Given the description of an element on the screen output the (x, y) to click on. 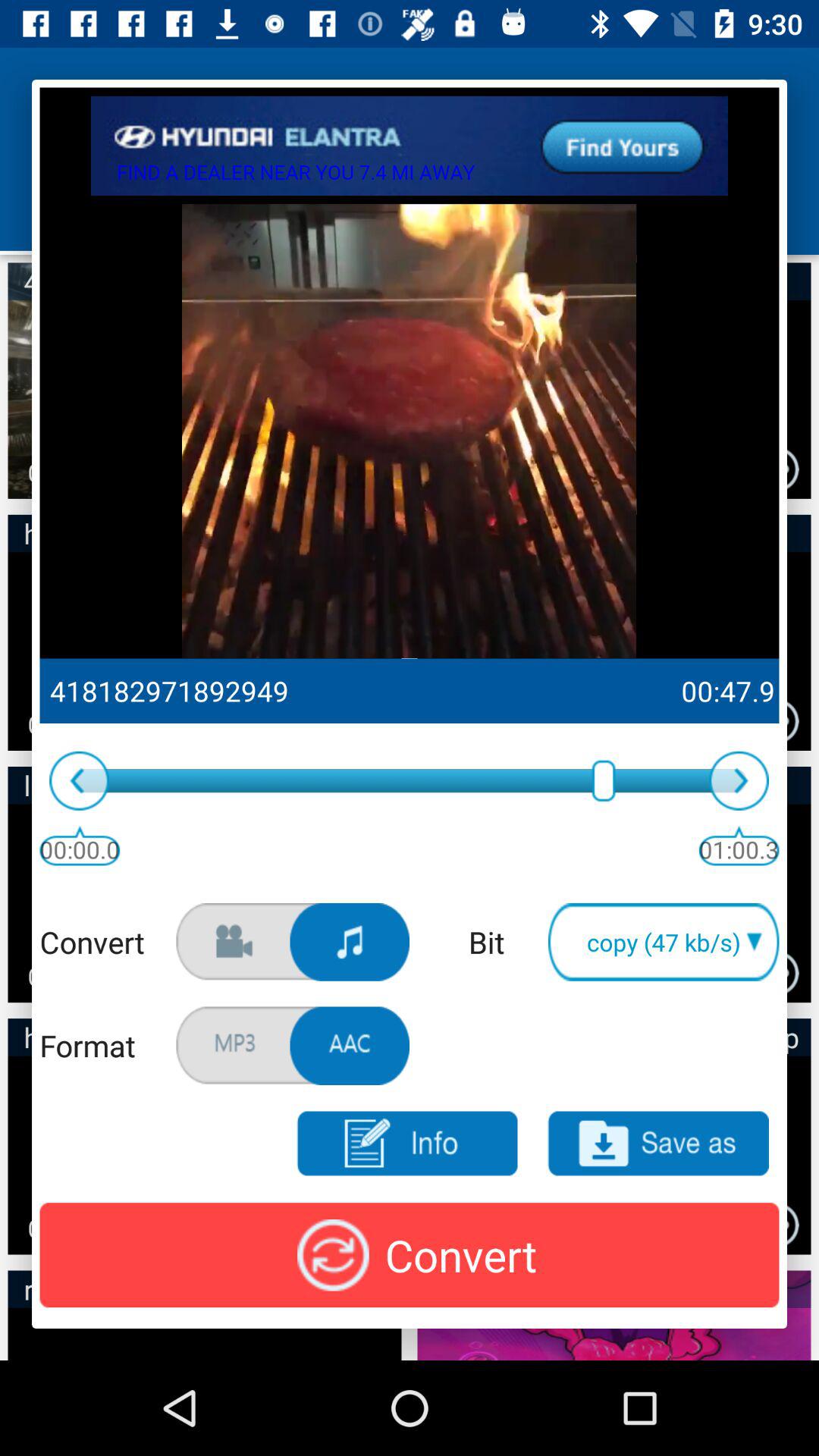
save the mp3 (657, 1143)
